Given the description of an element on the screen output the (x, y) to click on. 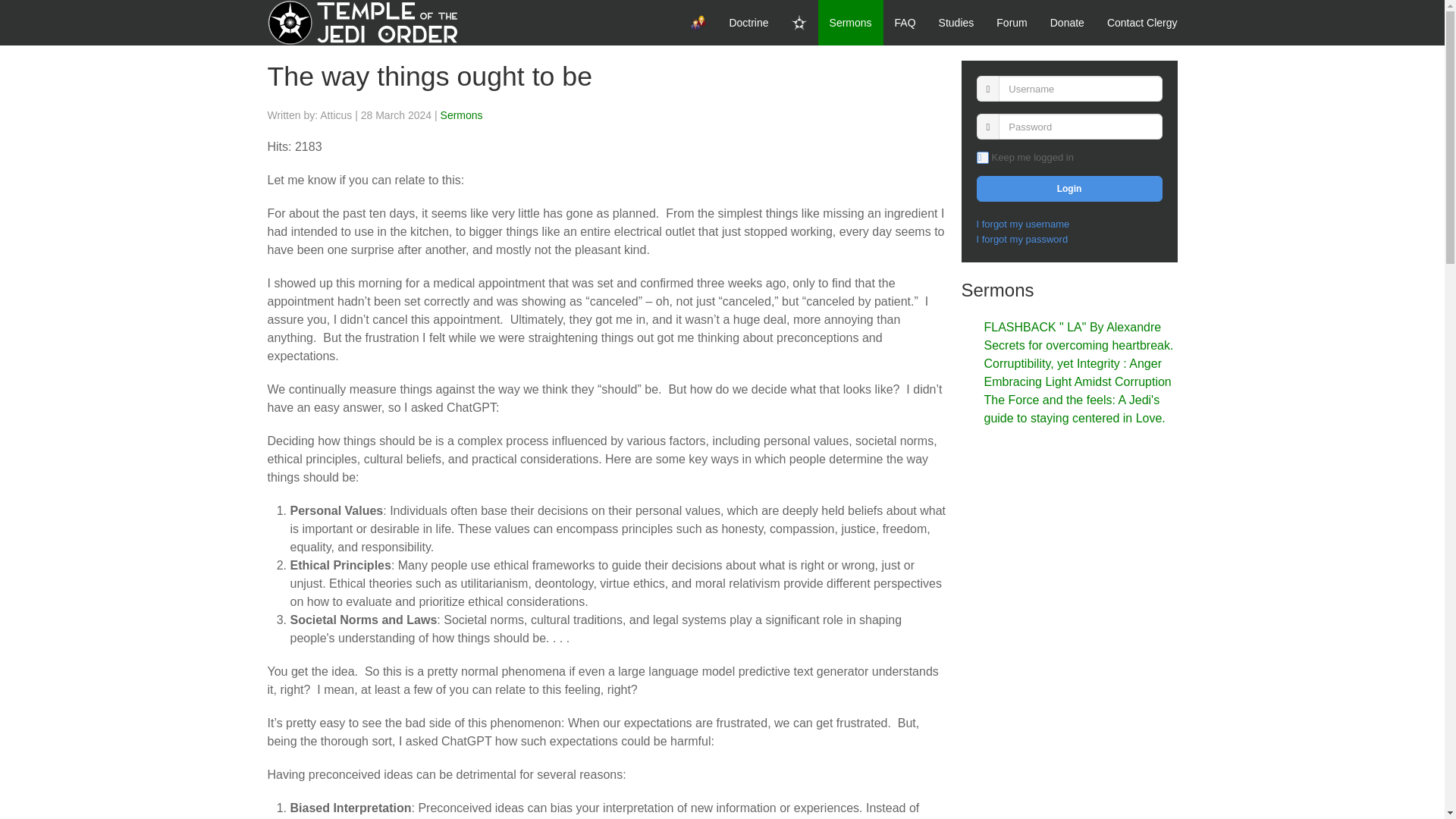
Studies (956, 22)
Forum (1011, 22)
Contact Clergy (1142, 22)
Sermons (850, 22)
Donate (1067, 22)
FAQ (905, 22)
Sermons (462, 114)
Doctrine (747, 22)
